Given the description of an element on the screen output the (x, y) to click on. 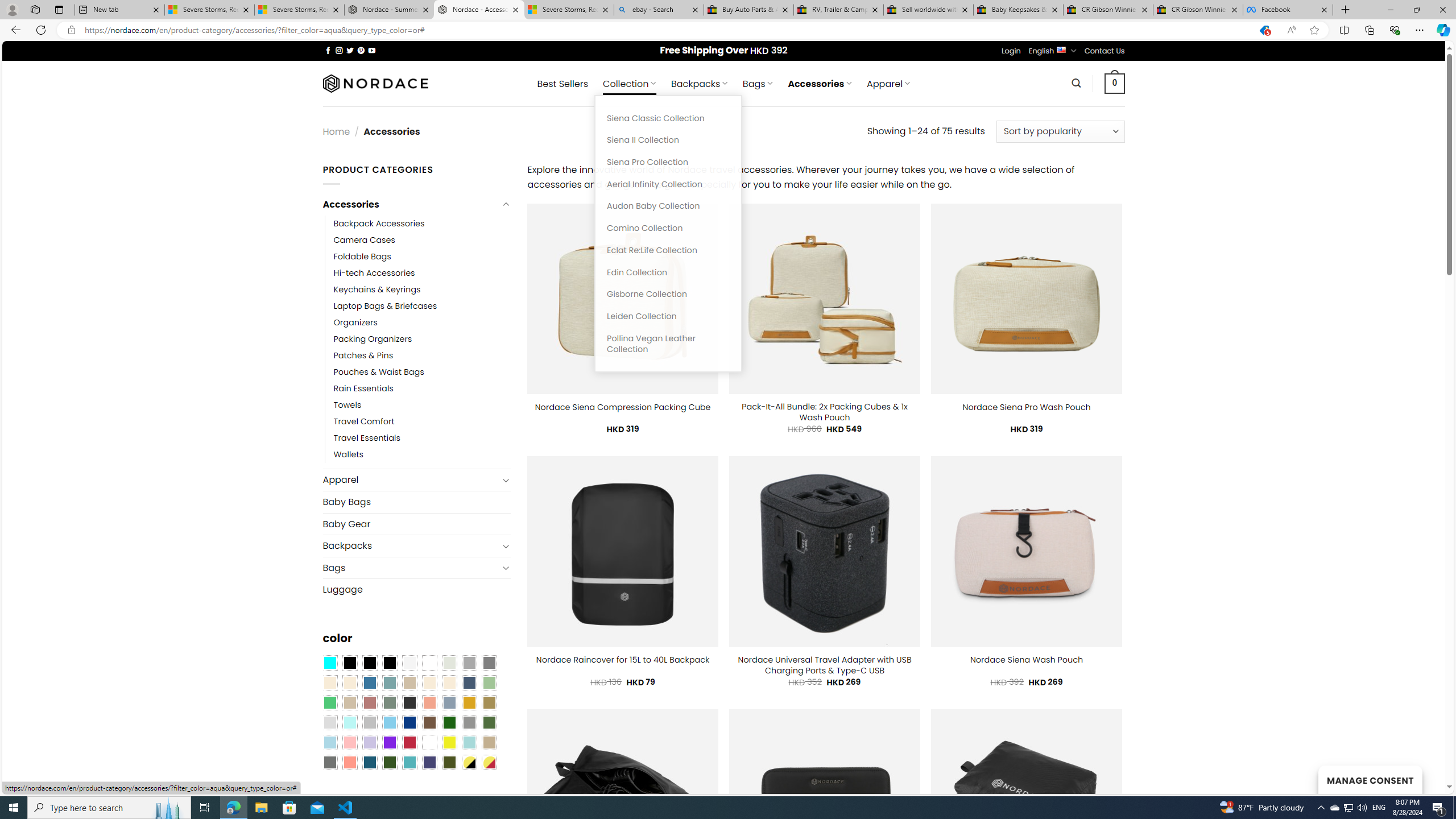
English (1061, 49)
Comino Collection (668, 228)
Eclat Re:Life Collection (668, 250)
Siena II Collection (668, 140)
Towels (422, 405)
Pouches & Waist Bags (422, 371)
Comino Collection (668, 228)
Gisborne Collection (668, 294)
Edin Collection (668, 272)
